Given the description of an element on the screen output the (x, y) to click on. 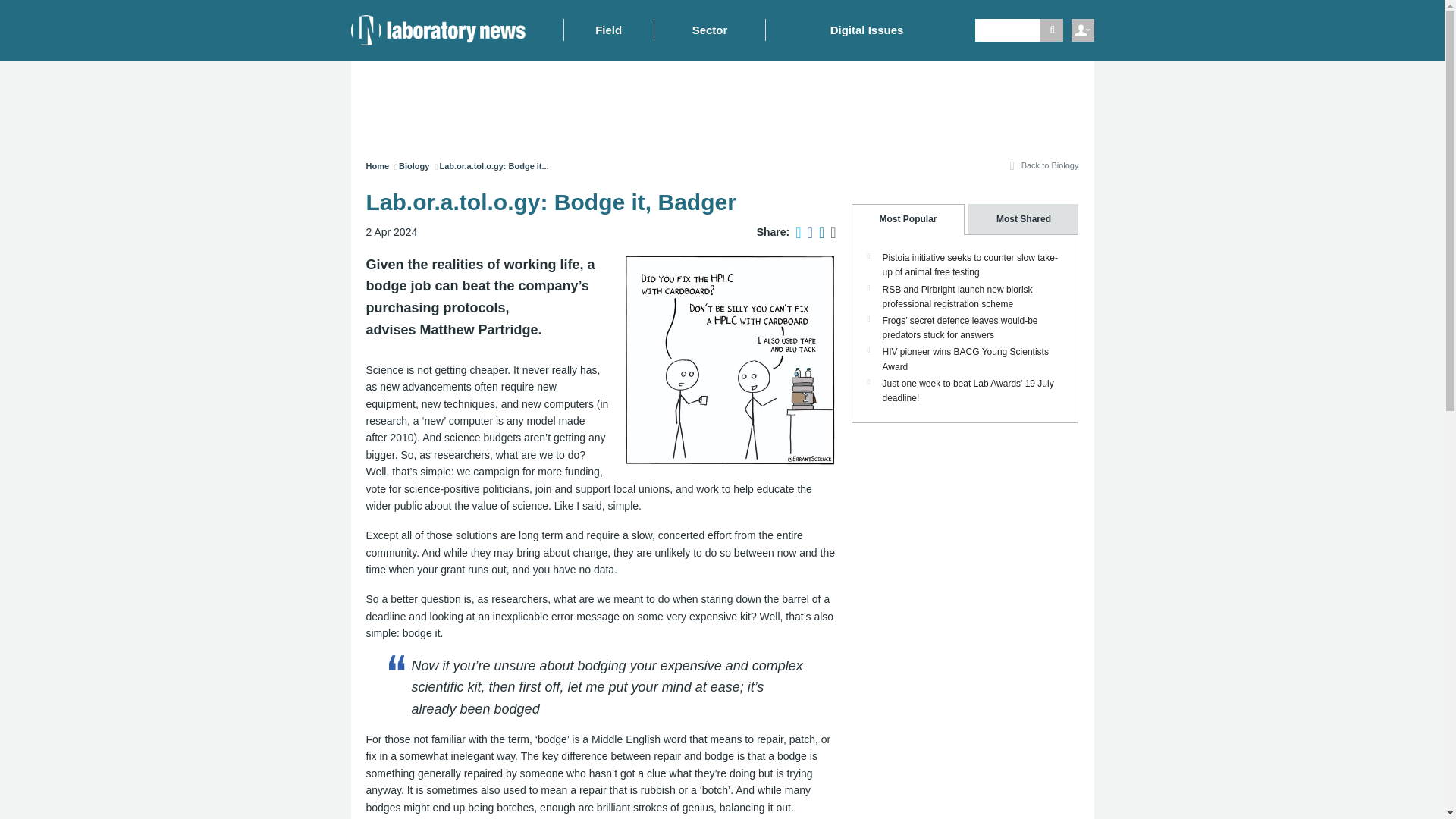
Share via Email (829, 232)
Home (376, 165)
3rd party ad content (726, 101)
Back to Biology (1042, 170)
Digital Issues (866, 29)
Share on Twitter (794, 232)
Share on Facebook (807, 232)
Most Shared (1020, 218)
Biology (413, 165)
Share on LinkedIn (818, 232)
Most Popular (906, 219)
Sector (709, 29)
Field (607, 29)
